Given the description of an element on the screen output the (x, y) to click on. 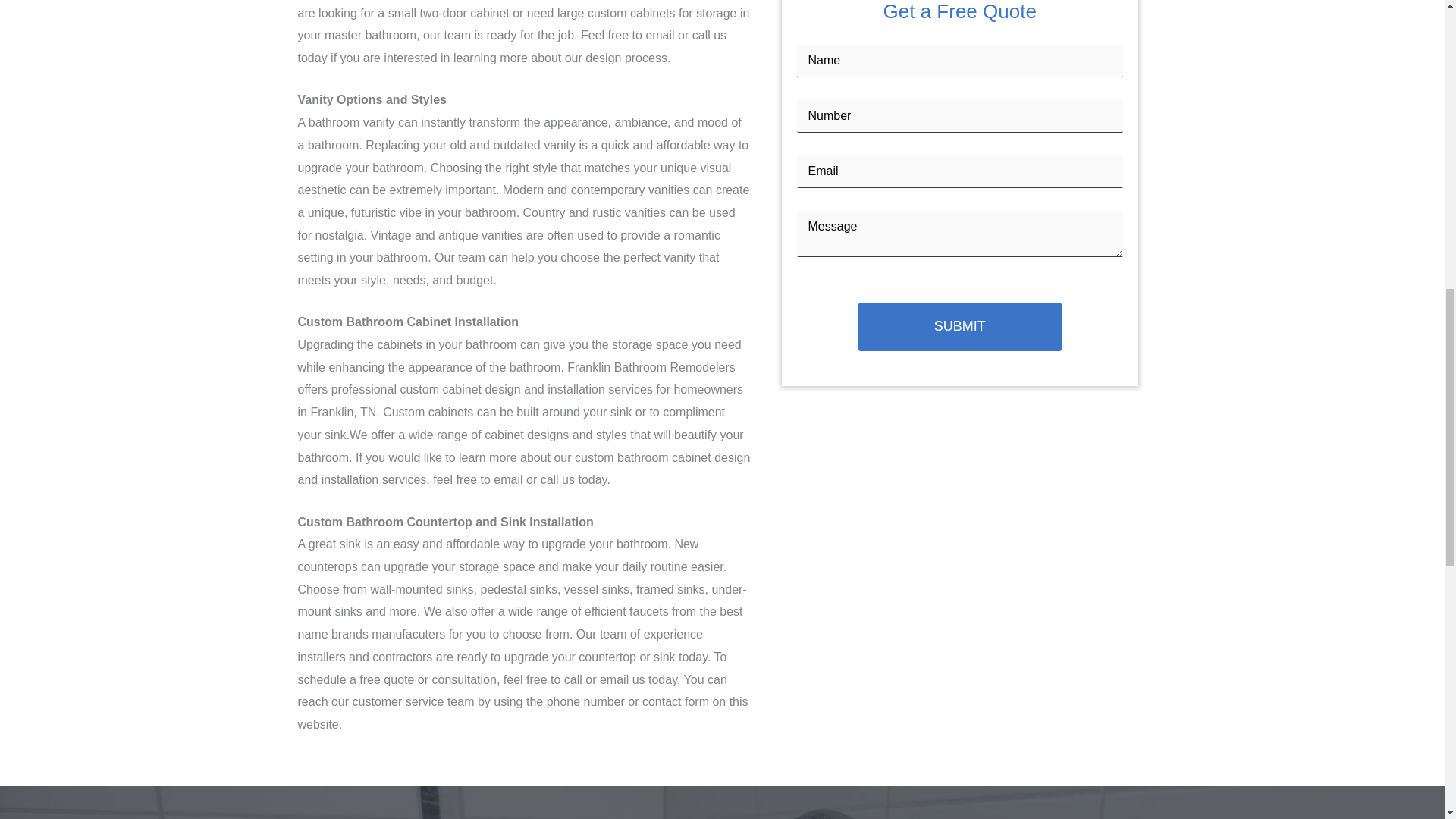
SUBMIT (960, 326)
